Given the description of an element on the screen output the (x, y) to click on. 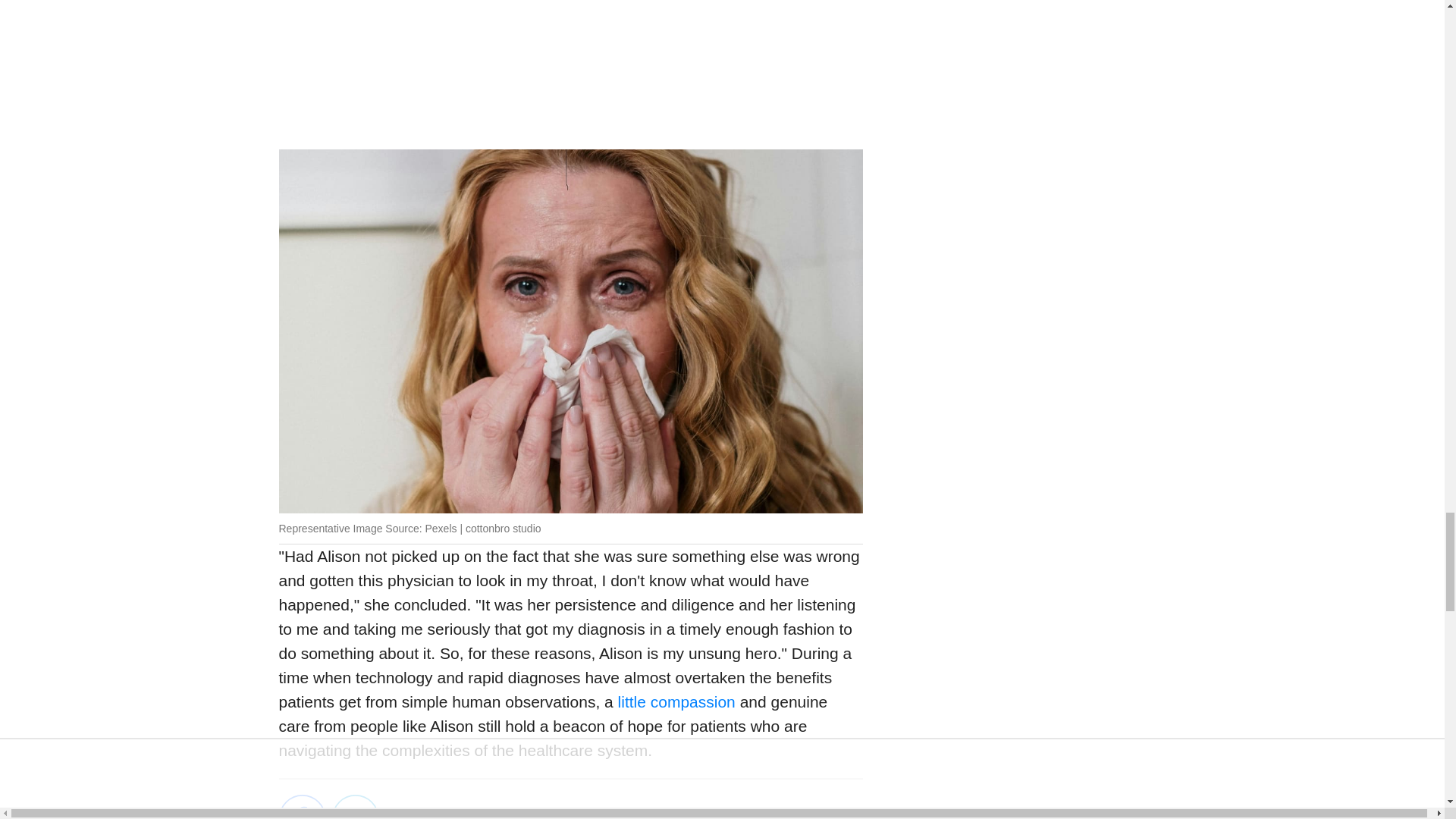
 little compassion (673, 701)
